Given the description of an element on the screen output the (x, y) to click on. 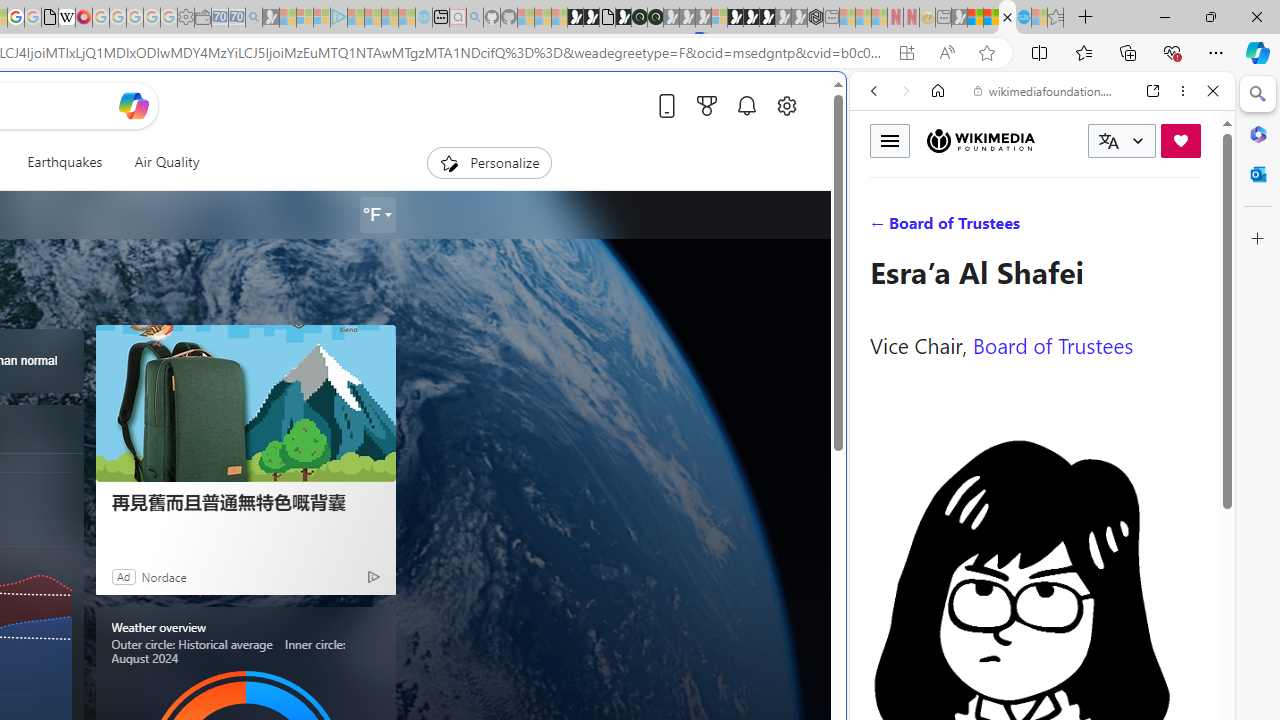
Earthquakes (65, 162)
Target page - Wikipedia (66, 17)
MSN - Sleeping (959, 17)
